Given the description of an element on the screen output the (x, y) to click on. 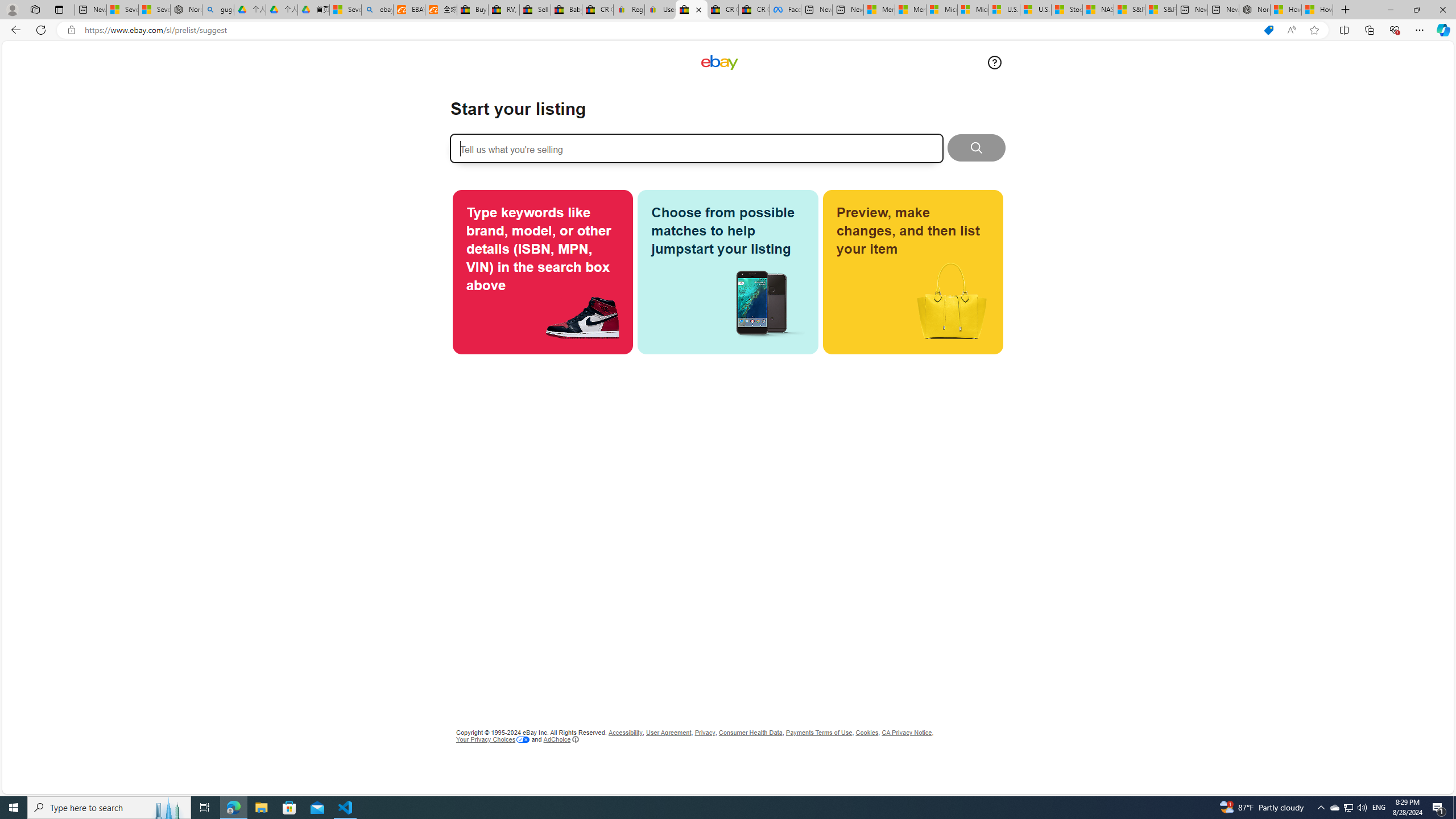
CA Privacy Notice (905, 732)
guge yunpan - Search (218, 9)
Sell worldwide with eBay (535, 9)
Payments Terms of Use (818, 732)
Baby Keepsakes & Announcements for sale | eBay (566, 9)
Comment about your experience on this page. (994, 61)
